Given the description of an element on the screen output the (x, y) to click on. 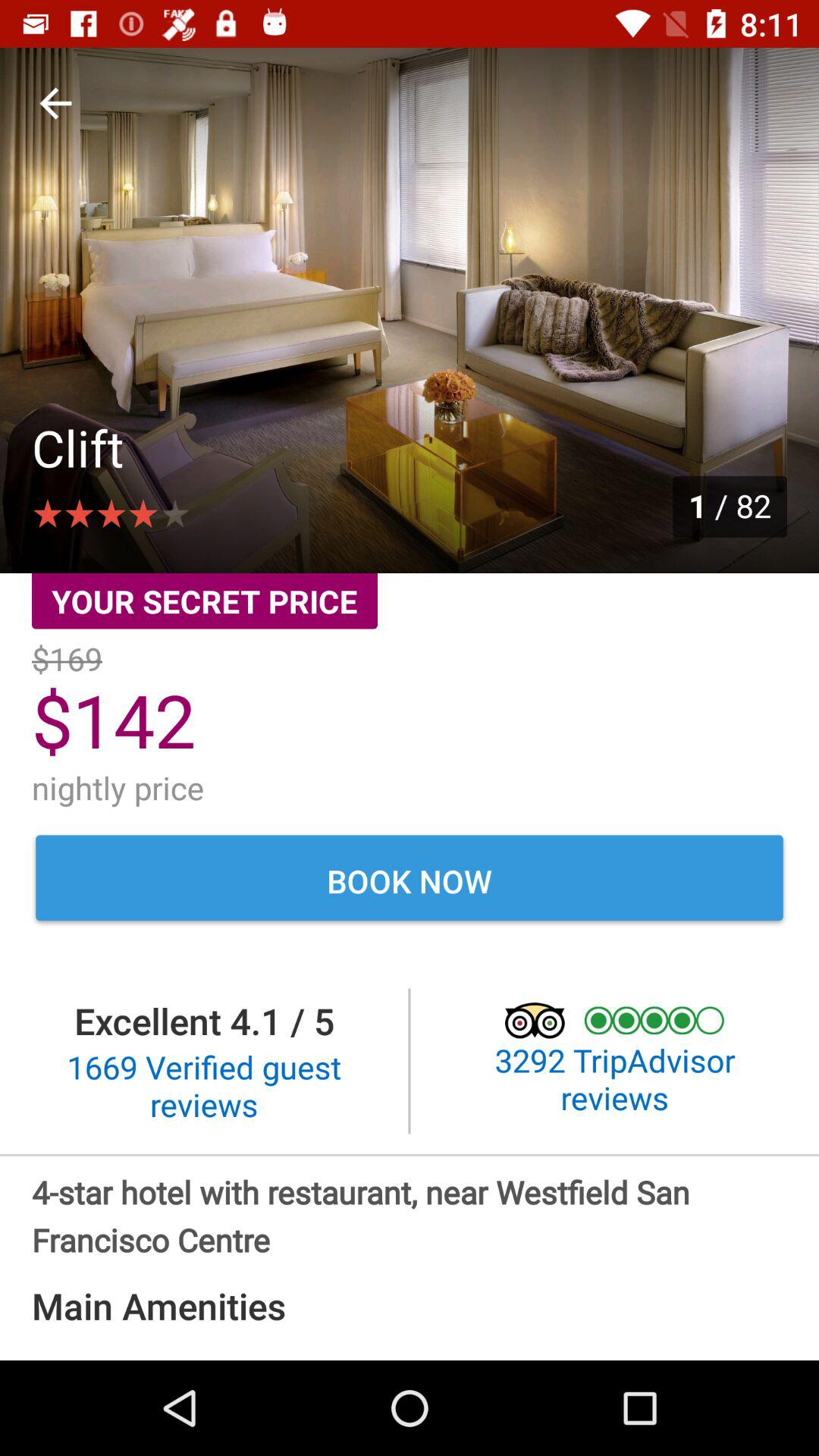
turn off item above the clift icon (55, 103)
